Given the description of an element on the screen output the (x, y) to click on. 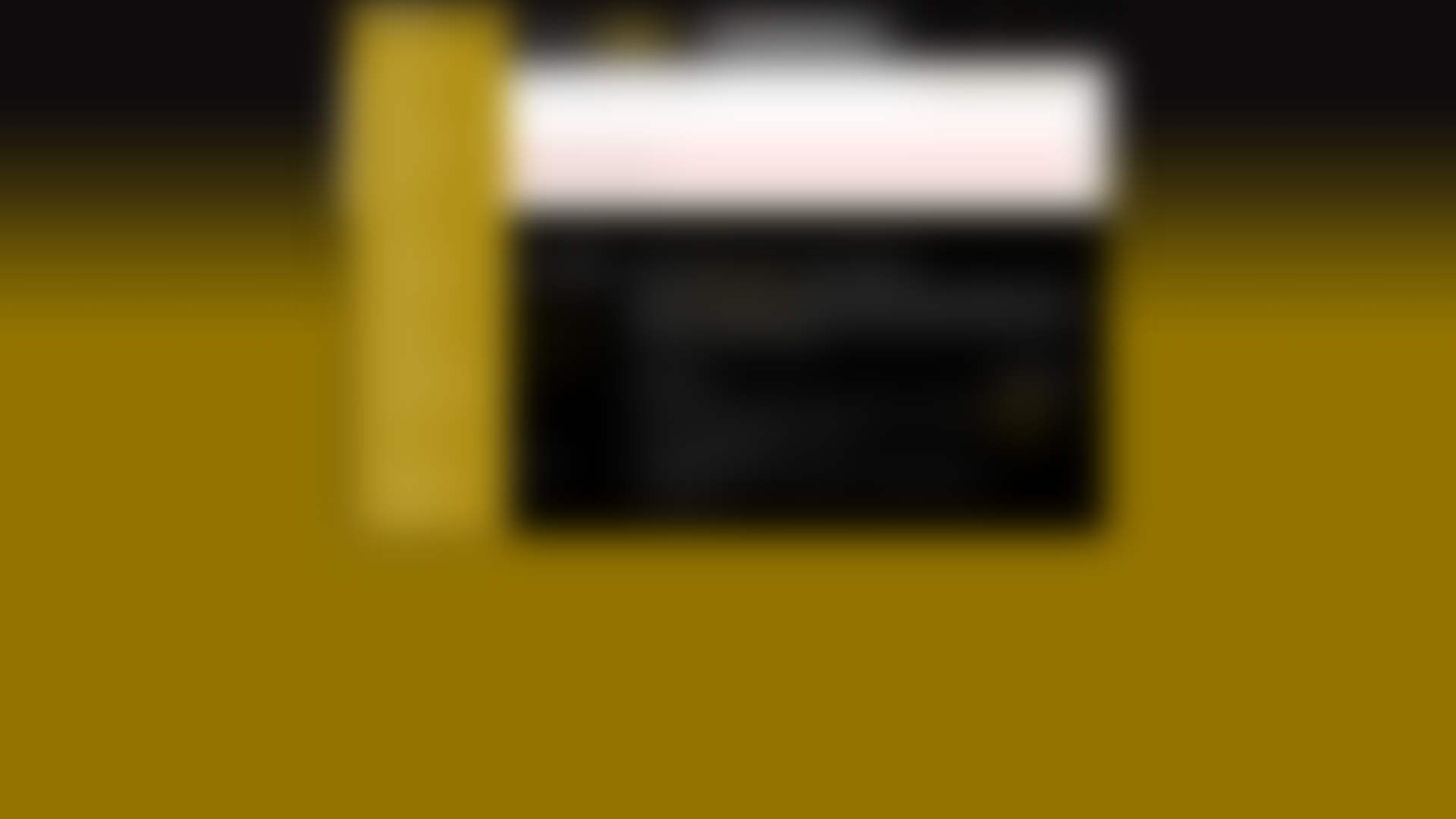
CLOTHED (424, 228)
TOILET FARTING (424, 493)
BOUND SLAVES (424, 148)
CLOSE-UP (424, 201)
WHITE GIRLS (424, 520)
NUDE (424, 440)
BRUNETTES (424, 175)
ASIAN GIRLS (424, 42)
BLACK GIRLS (424, 68)
FART EATING (424, 334)
INTERRACIAL FARTING (424, 387)
FartDom.net (490, 268)
Search videos (785, 35)
SLOW-MOTION (424, 466)
BLONDES (424, 95)
